Given the description of an element on the screen output the (x, y) to click on. 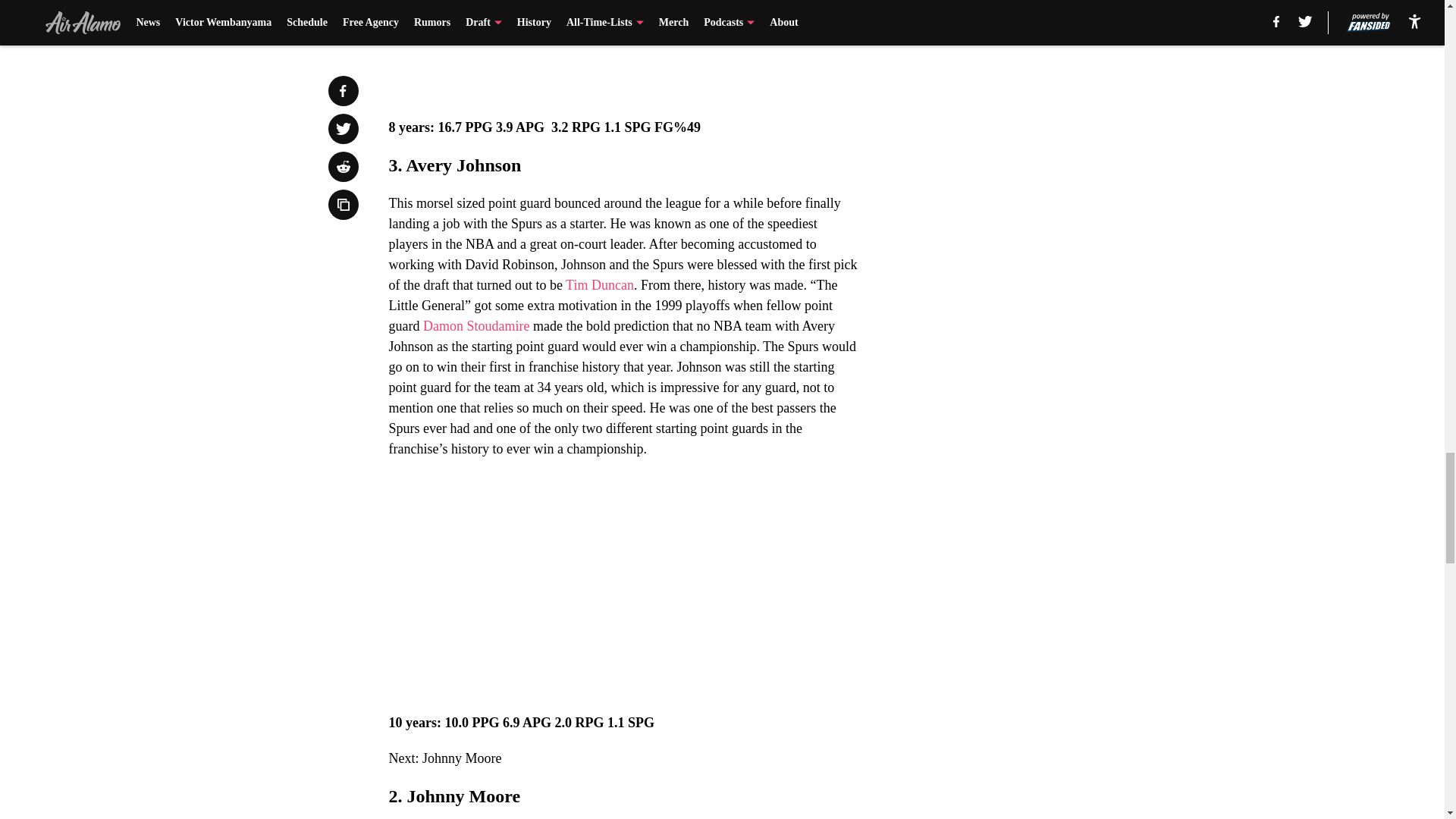
Tim Duncan (599, 284)
Damon Stoudamire (476, 325)
